Given the description of an element on the screen output the (x, y) to click on. 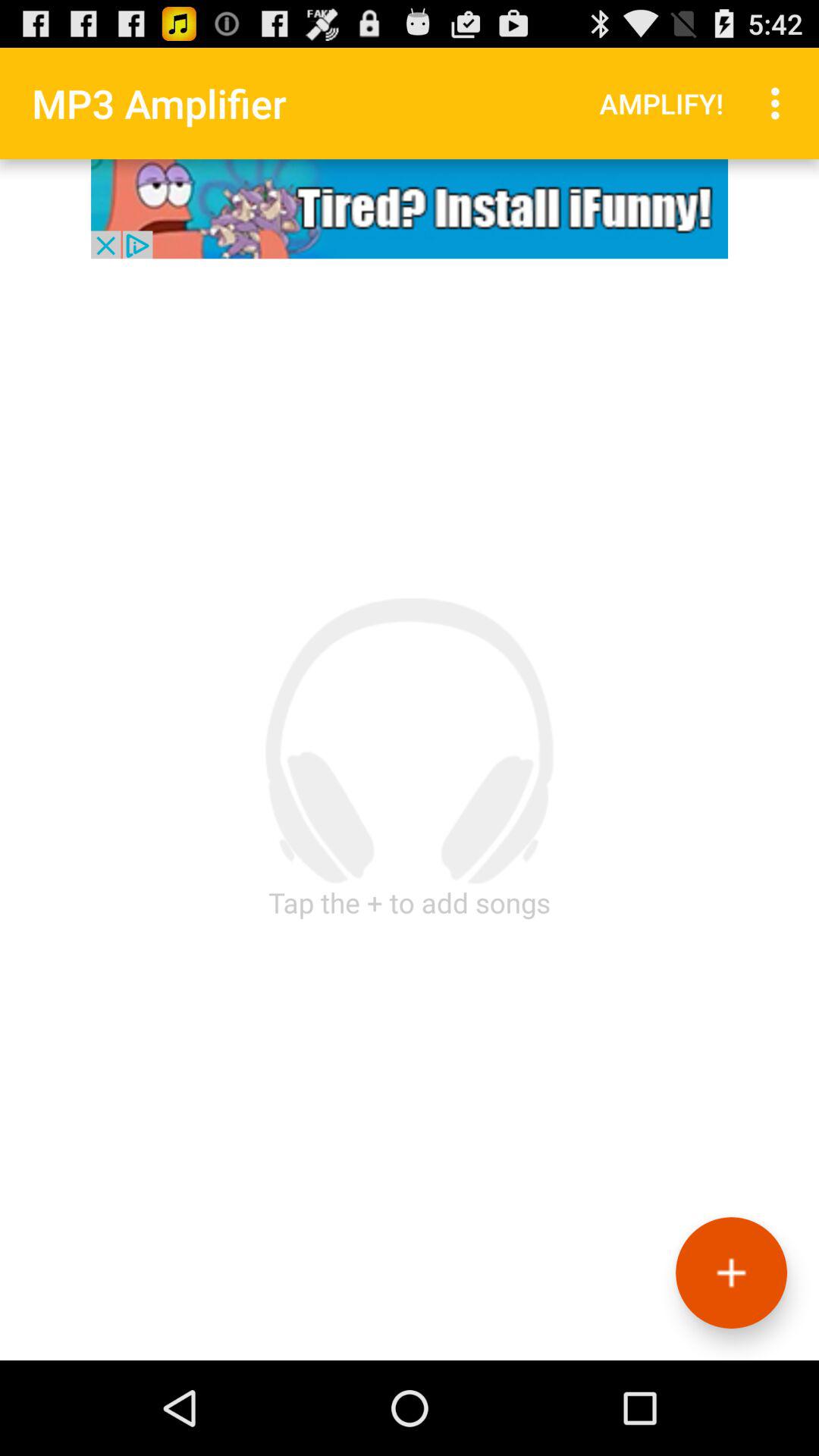
this is add banner in app (409, 208)
